Given the description of an element on the screen output the (x, y) to click on. 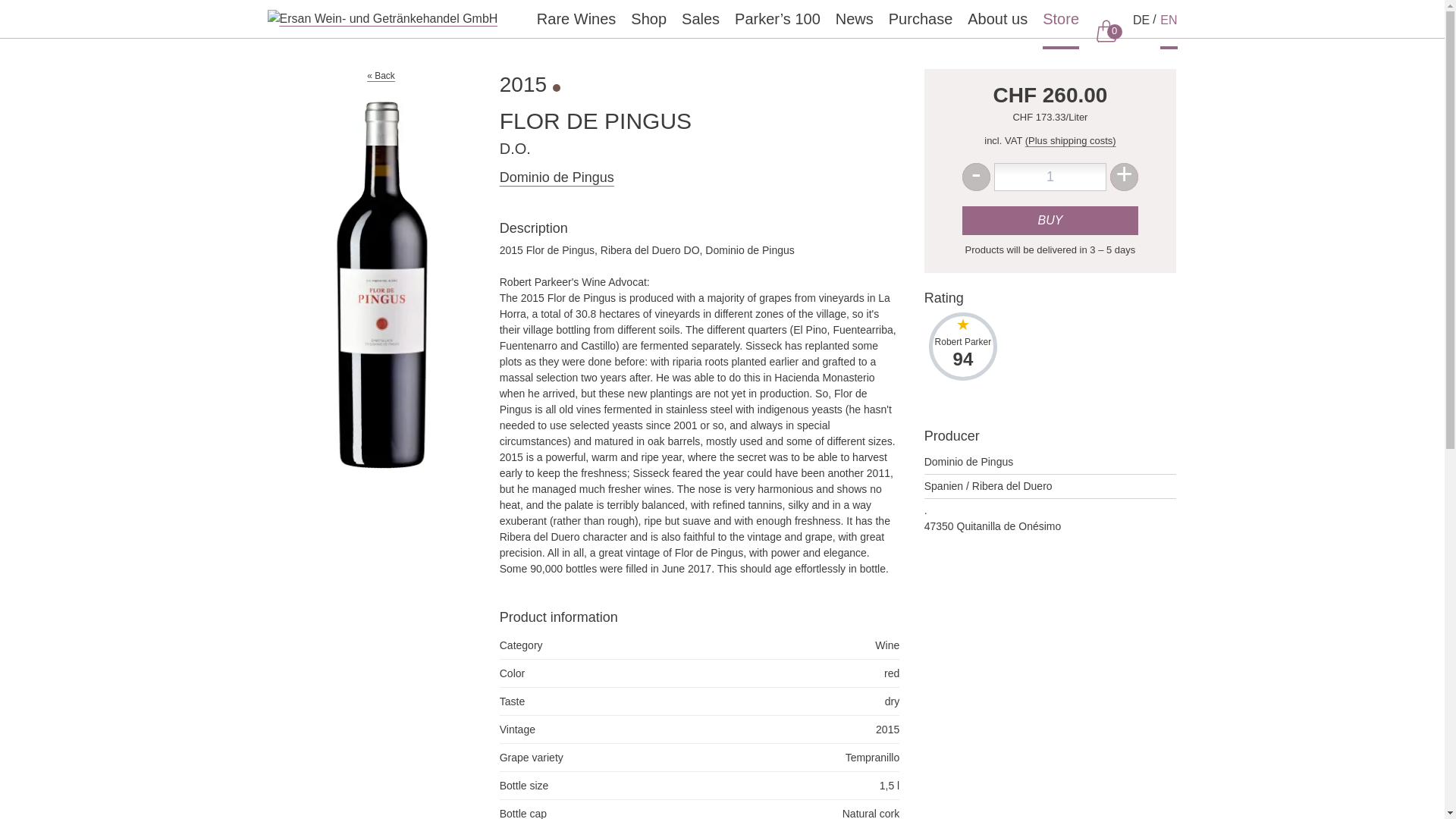
About us (997, 18)
Sales (700, 18)
Store (976, 176)
Shop (1060, 18)
Rare Wines (648, 18)
Purchase (576, 18)
BUY (920, 18)
Dominio de Pingus (1050, 220)
News (556, 177)
